Given the description of an element on the screen output the (x, y) to click on. 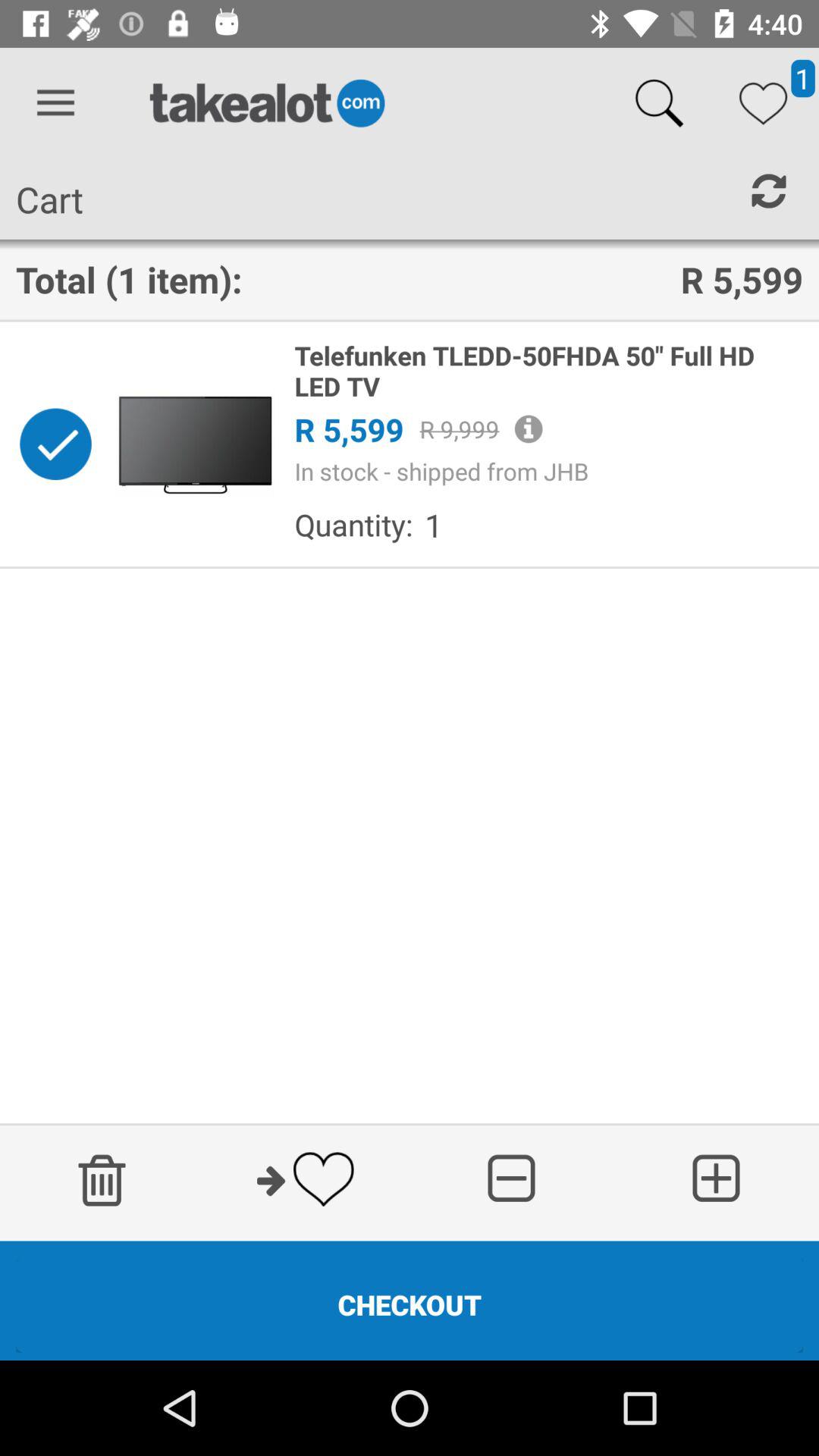
tap item to the left of telefunken tledd 50fhda icon (194, 443)
